Given the description of an element on the screen output the (x, y) to click on. 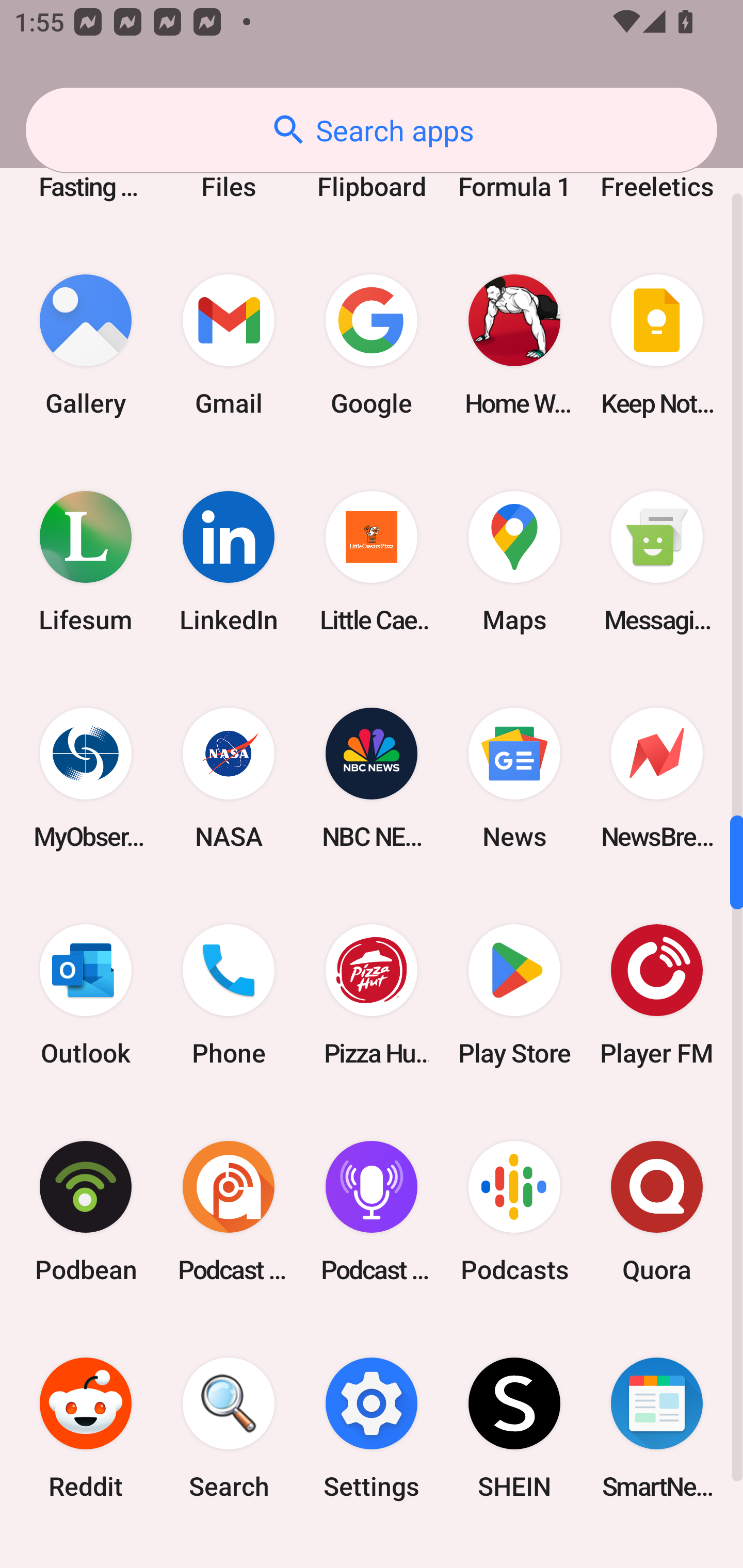
  Search apps (371, 130)
Gallery (85, 344)
Gmail (228, 344)
Google (371, 344)
Home Workout (514, 344)
Keep Notes (656, 344)
Lifesum (85, 561)
LinkedIn (228, 561)
Little Caesars Pizza (371, 561)
Maps (514, 561)
Messaging (656, 561)
MyObservatory (85, 777)
NASA (228, 777)
NBC NEWS (371, 777)
News (514, 777)
NewsBreak (656, 777)
Outlook (85, 994)
Phone (228, 994)
Pizza Hut HK & Macau (371, 994)
Play Store (514, 994)
Player FM (656, 994)
Podbean (85, 1211)
Podcast Addict (228, 1211)
Podcast Player (371, 1211)
Podcasts (514, 1211)
Quora (656, 1211)
Reddit (85, 1428)
Search (228, 1428)
Settings (371, 1428)
SHEIN (514, 1428)
SmartNews (656, 1428)
